Given the description of an element on the screen output the (x, y) to click on. 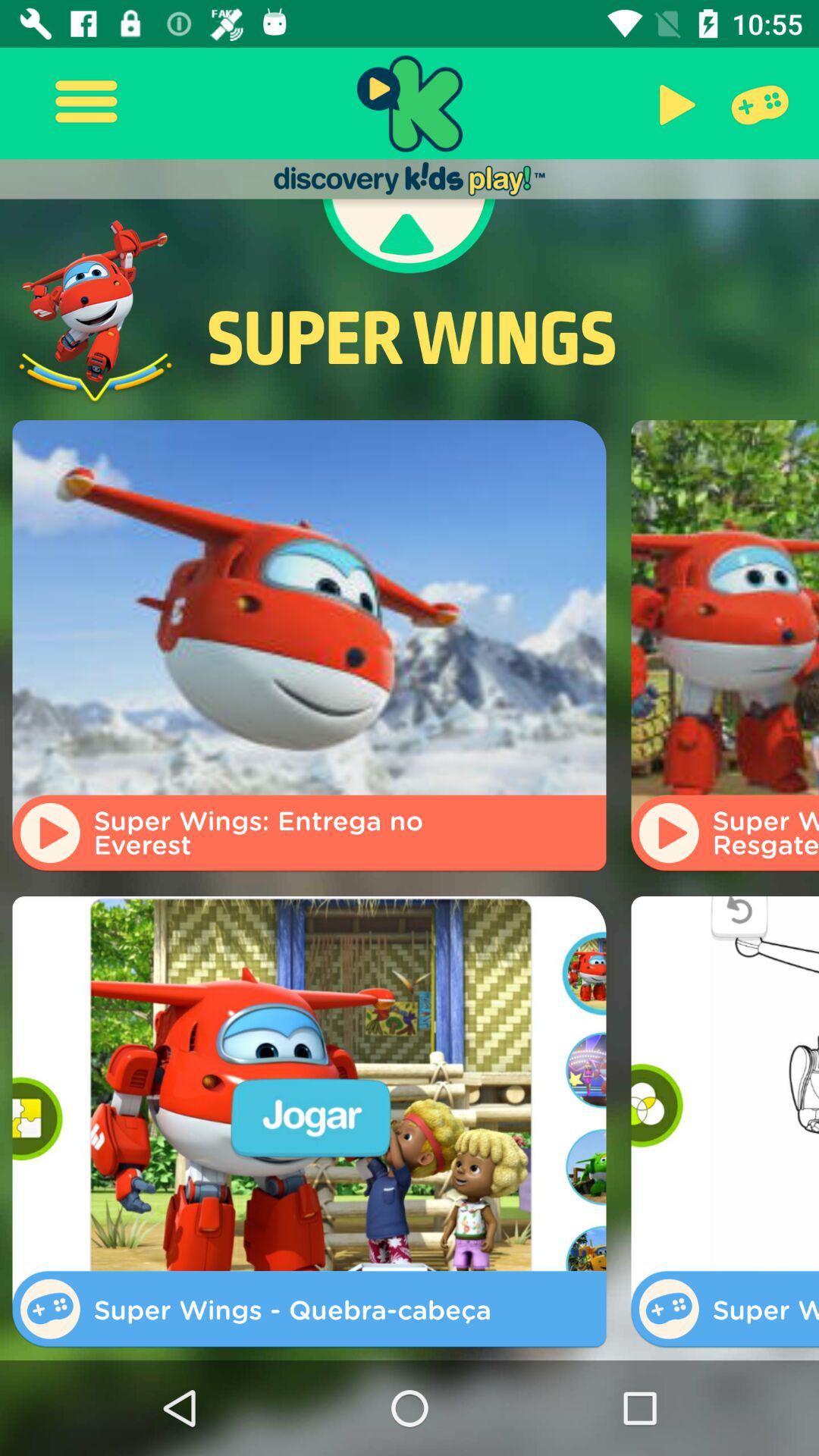
tap the icon above super wings (408, 236)
